Given the description of an element on the screen output the (x, y) to click on. 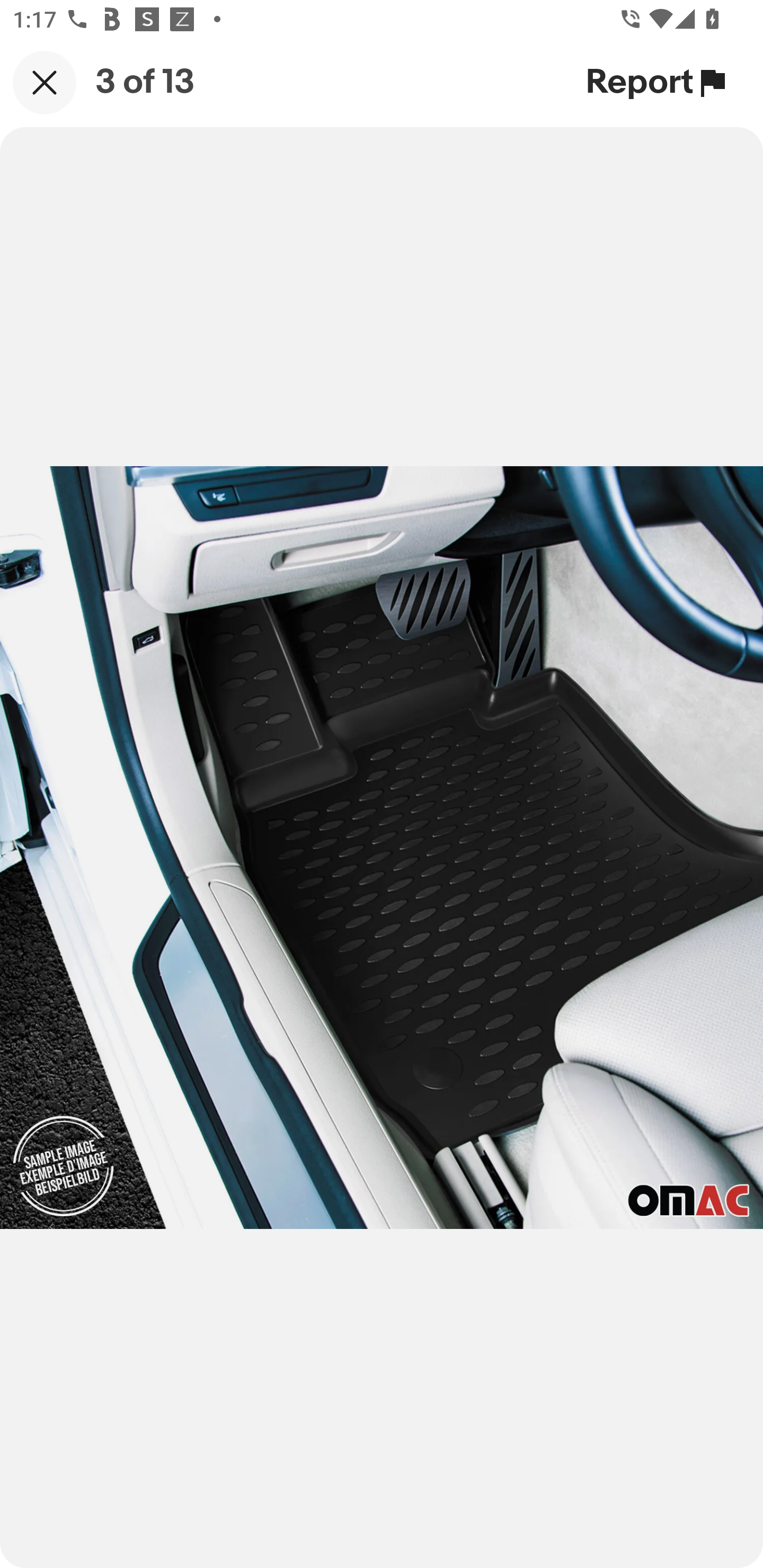
Close (44, 82)
Report Report this item (658, 82)
